Given the description of an element on the screen output the (x, y) to click on. 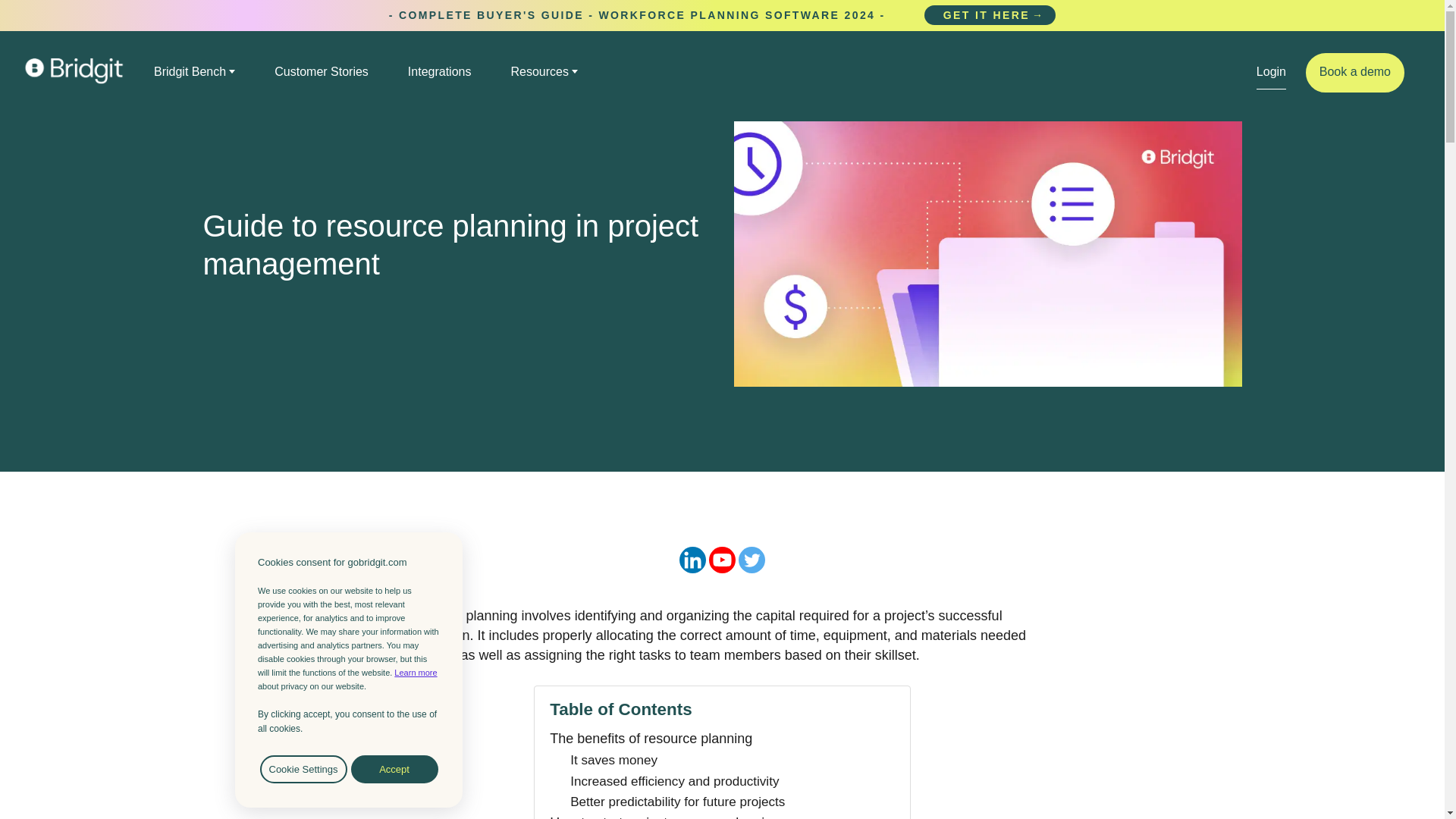
How to start project resource planning (664, 815)
Better predictability for future projects (677, 801)
The benefits of resource planning (651, 739)
Bridgit Bench (194, 71)
Book a demo (1355, 73)
Increased efficiency and productivity (674, 780)
Resources (544, 71)
Integrations (439, 71)
GET IT HERE (989, 14)
Bridgit Bench (194, 71)
Resources (544, 71)
Customer Stories (321, 71)
It saves money (614, 760)
Integrations (439, 71)
Customer Stories (321, 71)
